Given the description of an element on the screen output the (x, y) to click on. 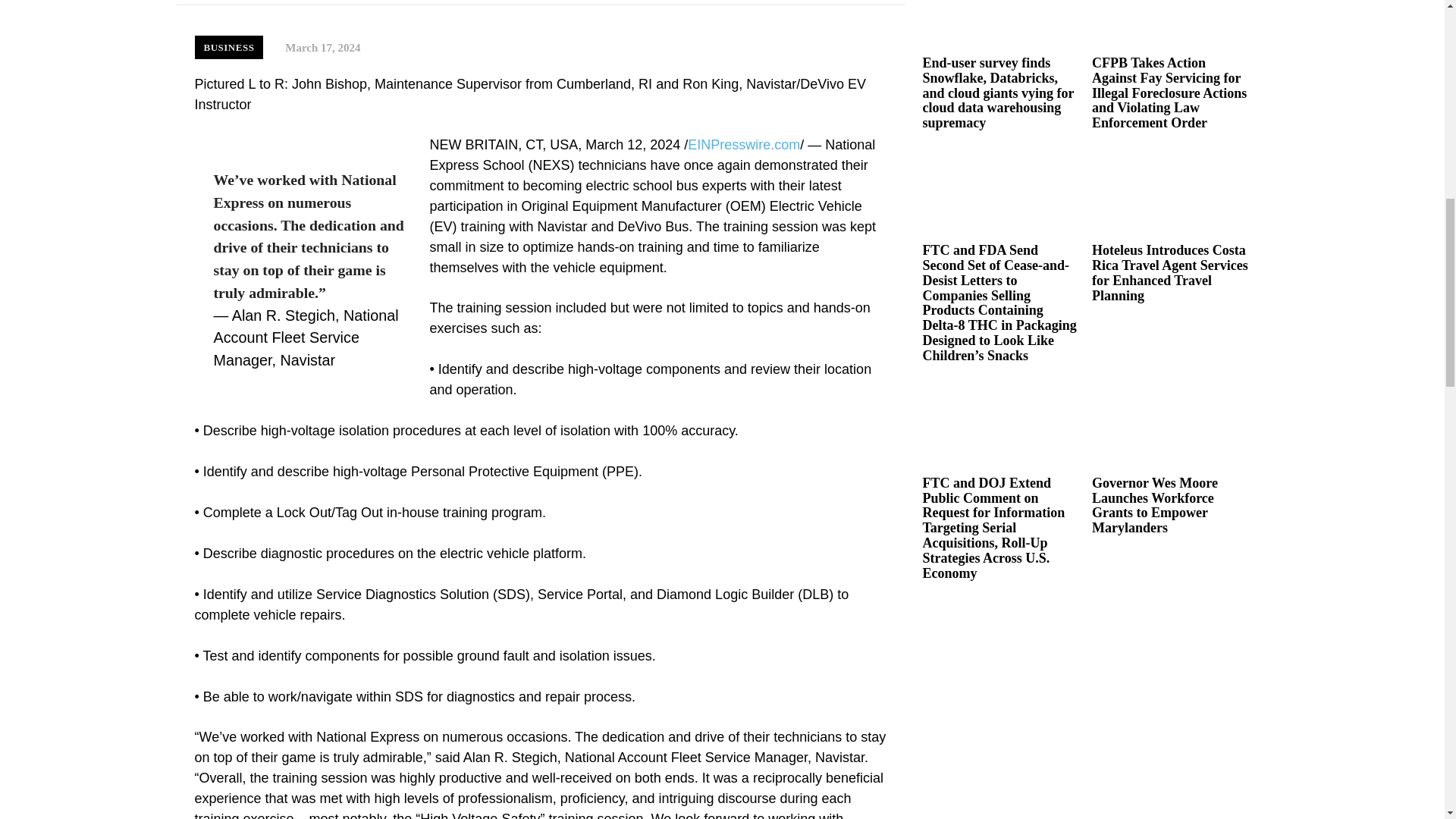
EINPresswire.com (743, 144)
BUSINESS (228, 47)
